Given the description of an element on the screen output the (x, y) to click on. 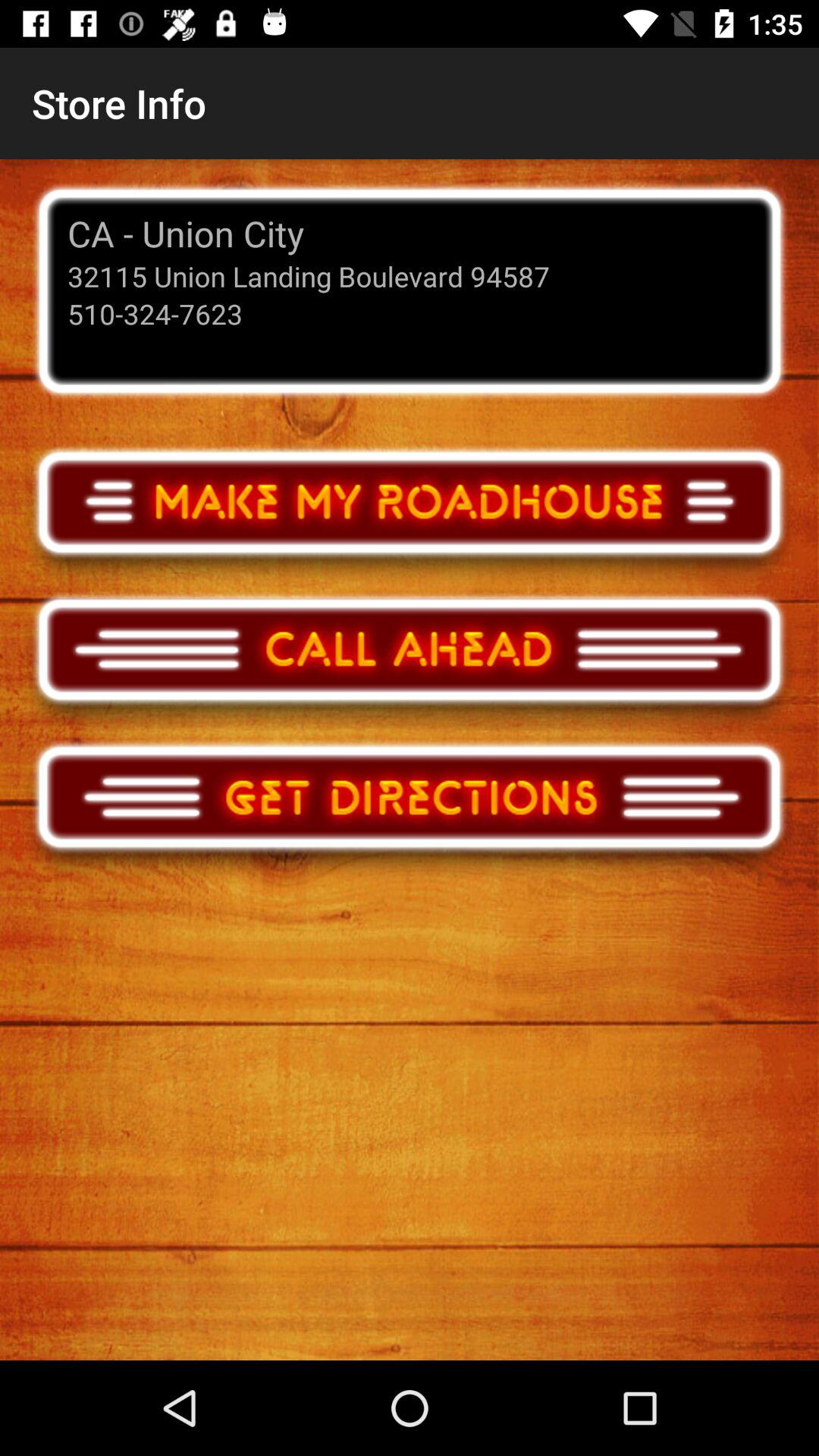
get directions to a store (409, 810)
